Given the description of an element on the screen output the (x, y) to click on. 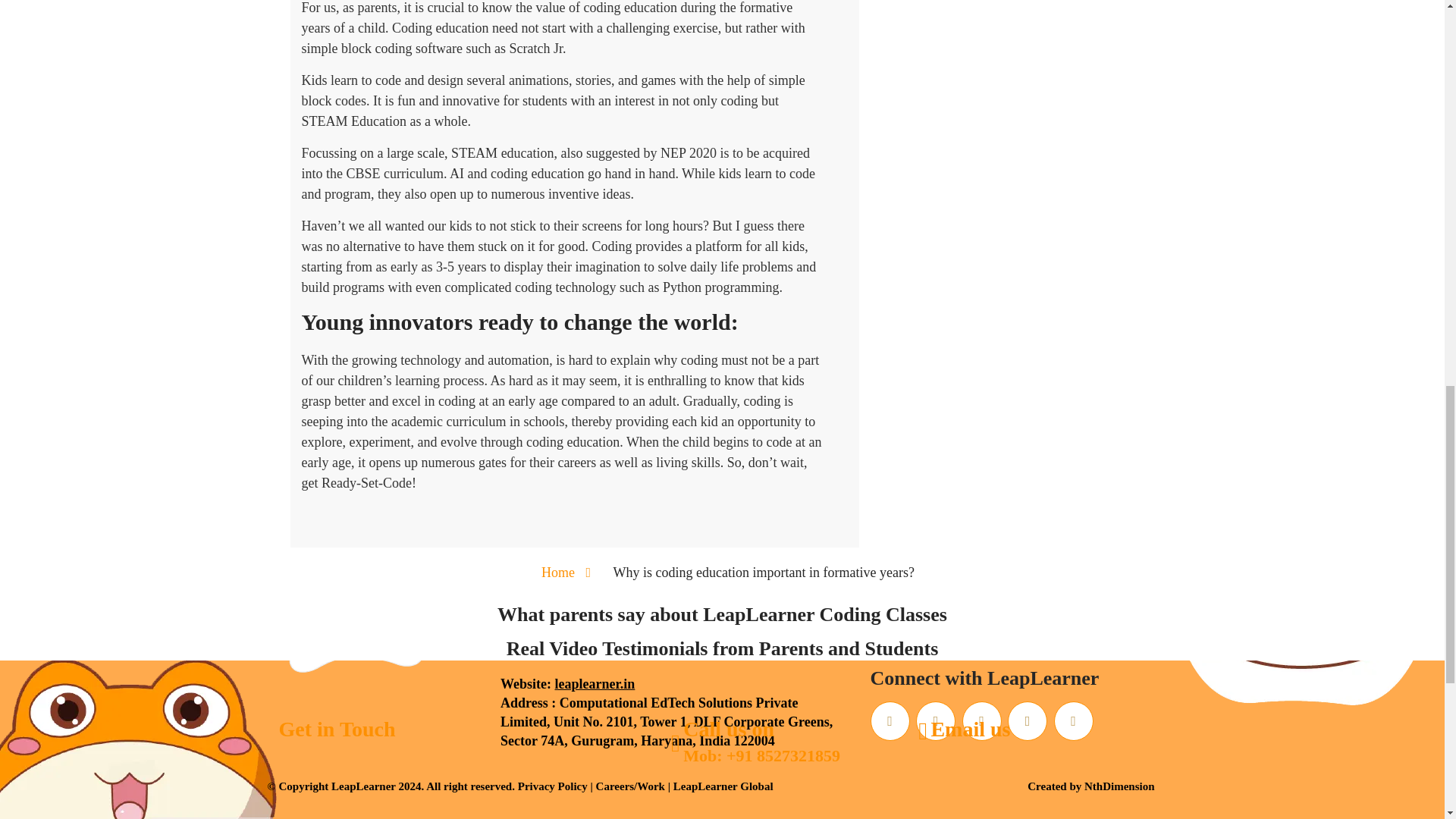
Home (558, 572)
Home (558, 572)
